Given the description of an element on the screen output the (x, y) to click on. 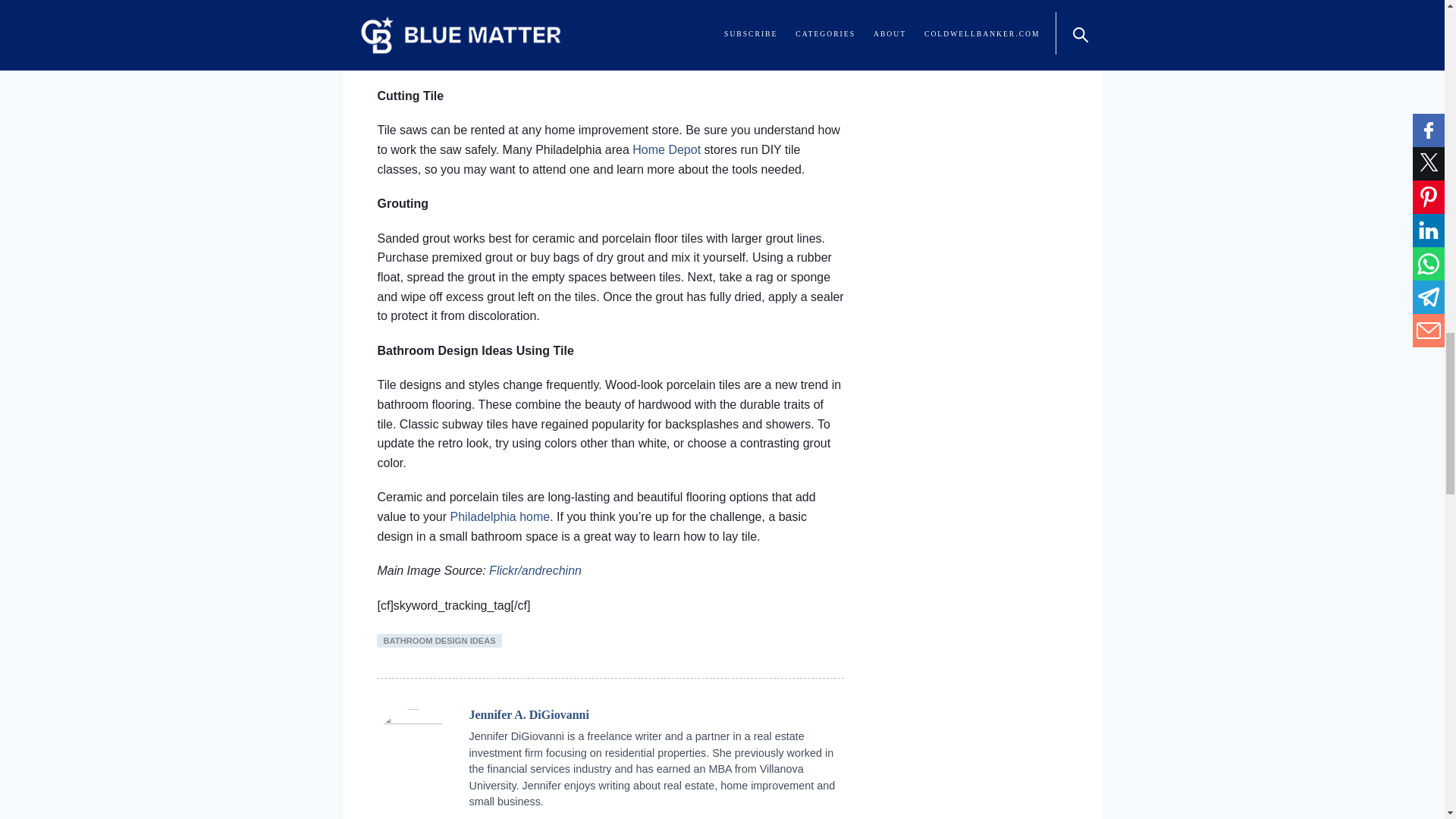
Jennifer A. DiGiovanni (528, 714)
Home Depot (665, 149)
Posts by Jennifer A. DiGiovanni (528, 714)
Philadelphia home (499, 516)
BATHROOM DESIGN IDEAS (438, 640)
BathroomTile (610, 18)
